Given the description of an element on the screen output the (x, y) to click on. 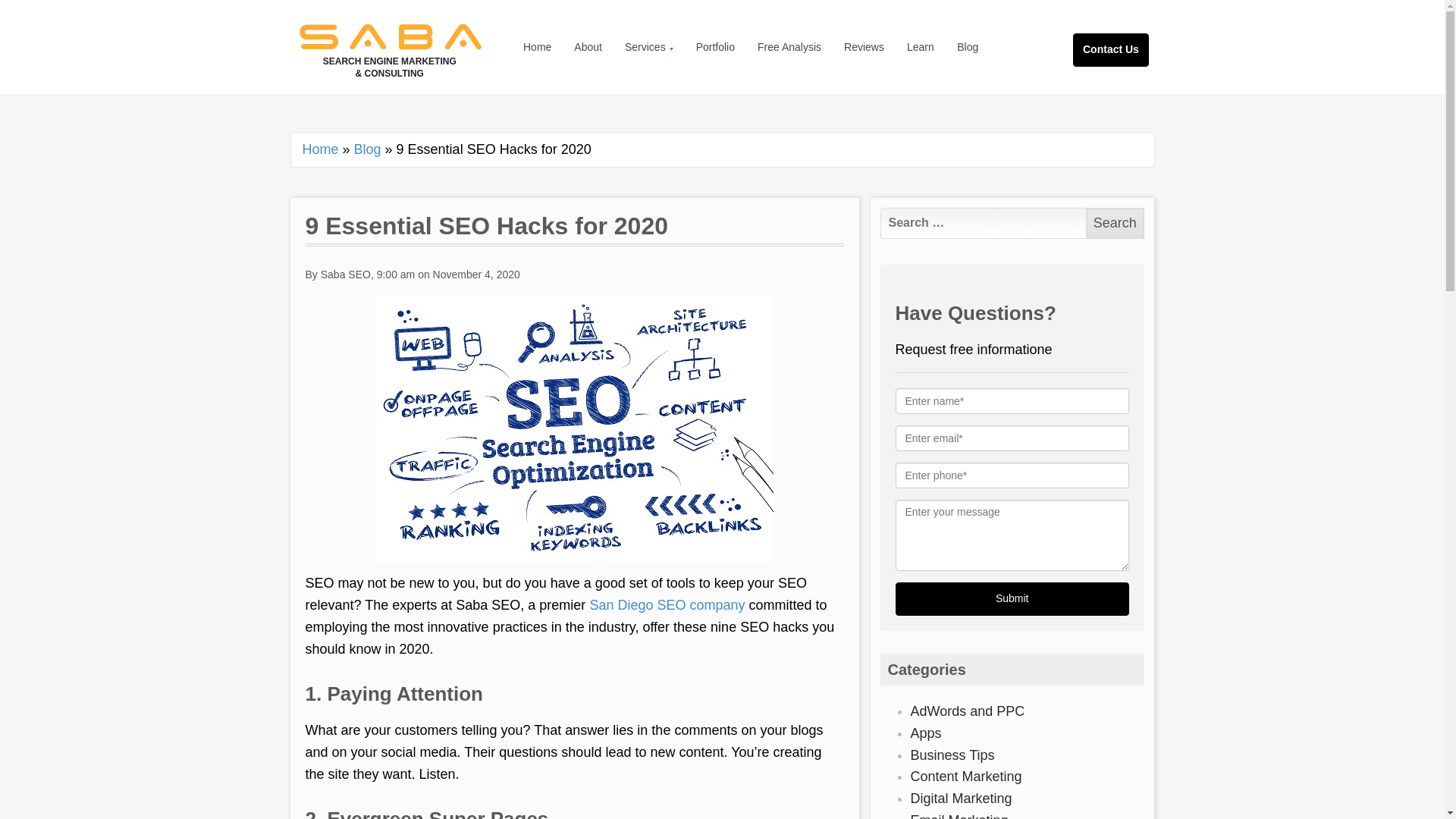
Search (1115, 223)
Reviews (863, 46)
Blog (367, 149)
Search (1115, 223)
Contact Us (1125, 32)
Search (1115, 223)
Free Analysis (788, 46)
About (587, 46)
Portfolio (714, 46)
Submit (1011, 598)
